Given the description of an element on the screen output the (x, y) to click on. 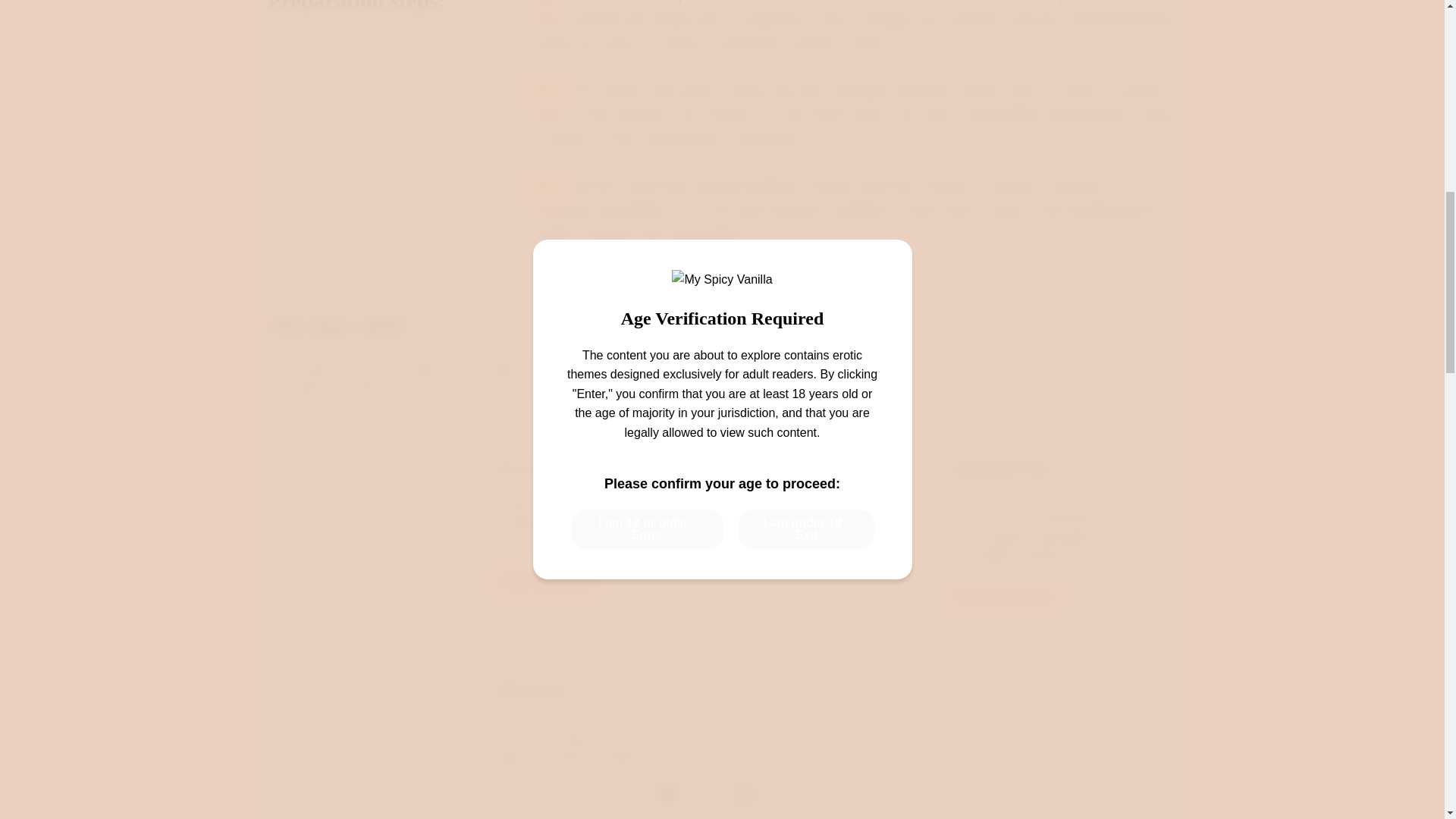
Check alternatives (548, 579)
Sexy adult Doctor's Coat (567, 468)
Massage Oil (530, 688)
Check alternatives (1003, 595)
Stethoscope Prop (999, 468)
